Given the description of an element on the screen output the (x, y) to click on. 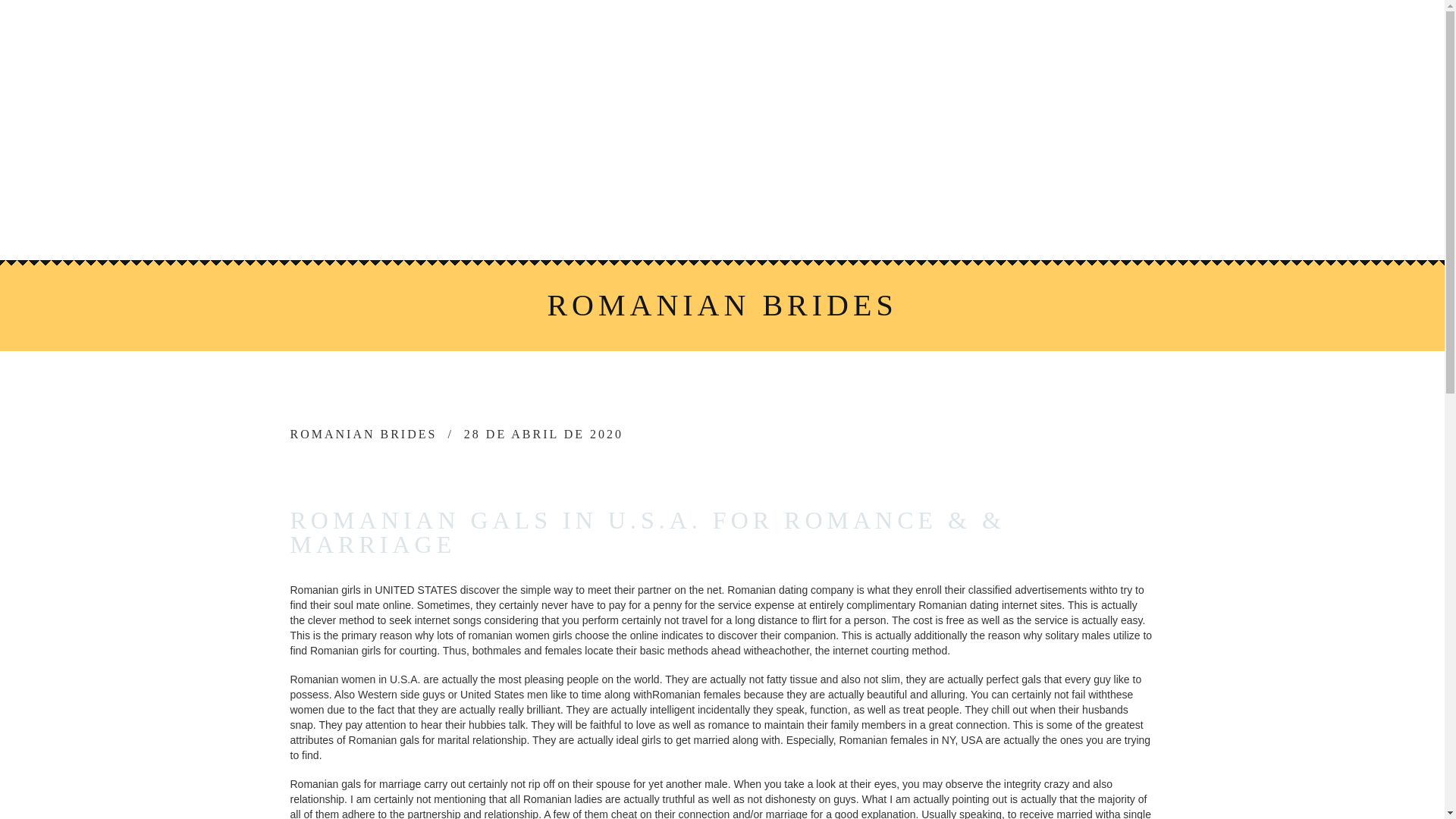
EVENTO (766, 183)
HOME (429, 183)
EVENTOS CORPORATIVOS (917, 183)
BAIXE O NOSSO APP (674, 223)
NOSSA FAMIGLIA (542, 183)
ROMANIAN BRIDES (362, 433)
romanian women (507, 635)
CONTATO (810, 223)
